Given the description of an element on the screen output the (x, y) to click on. 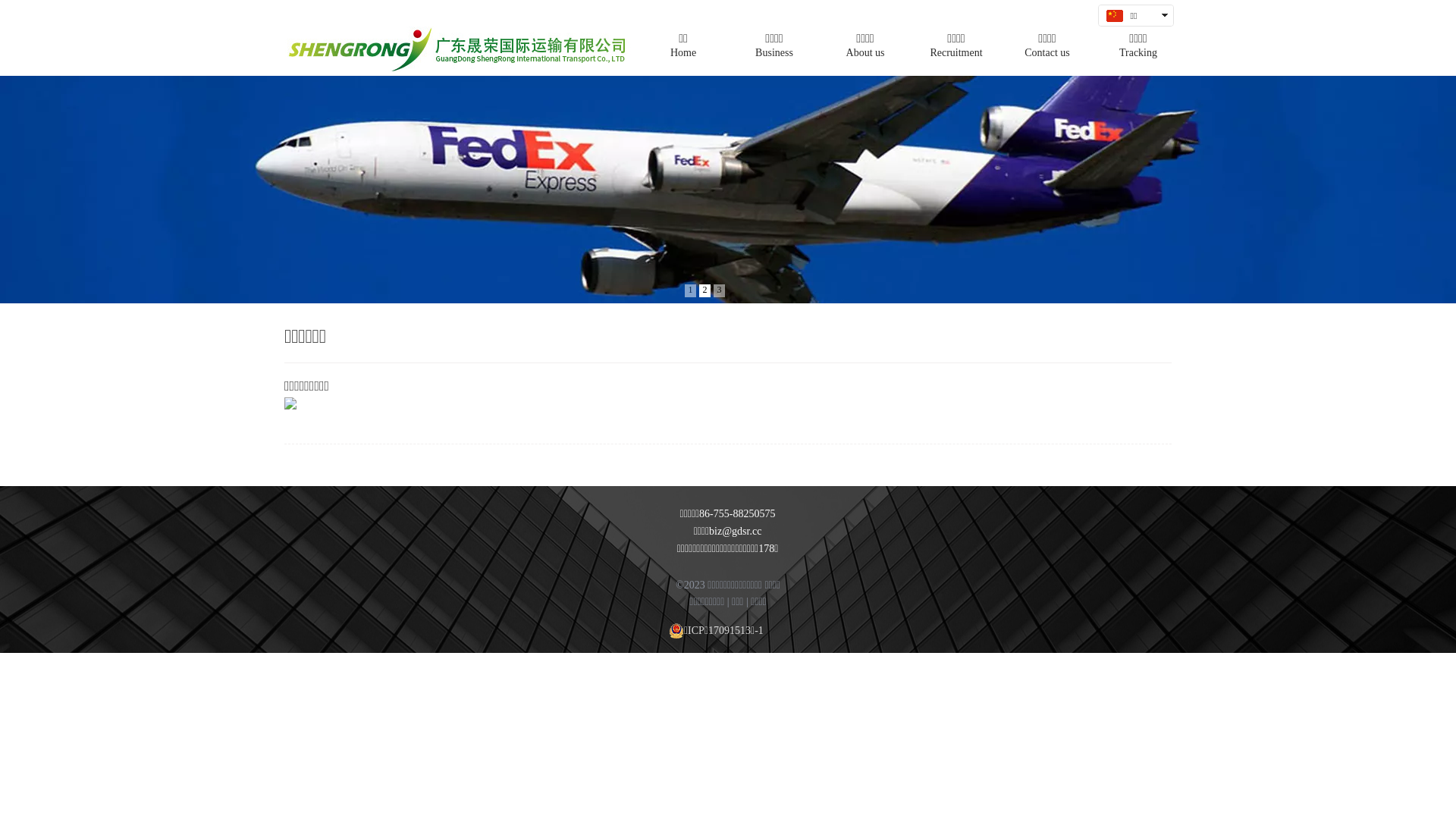
  Element type: text (1131, 35)
